Given the description of an element on the screen output the (x, y) to click on. 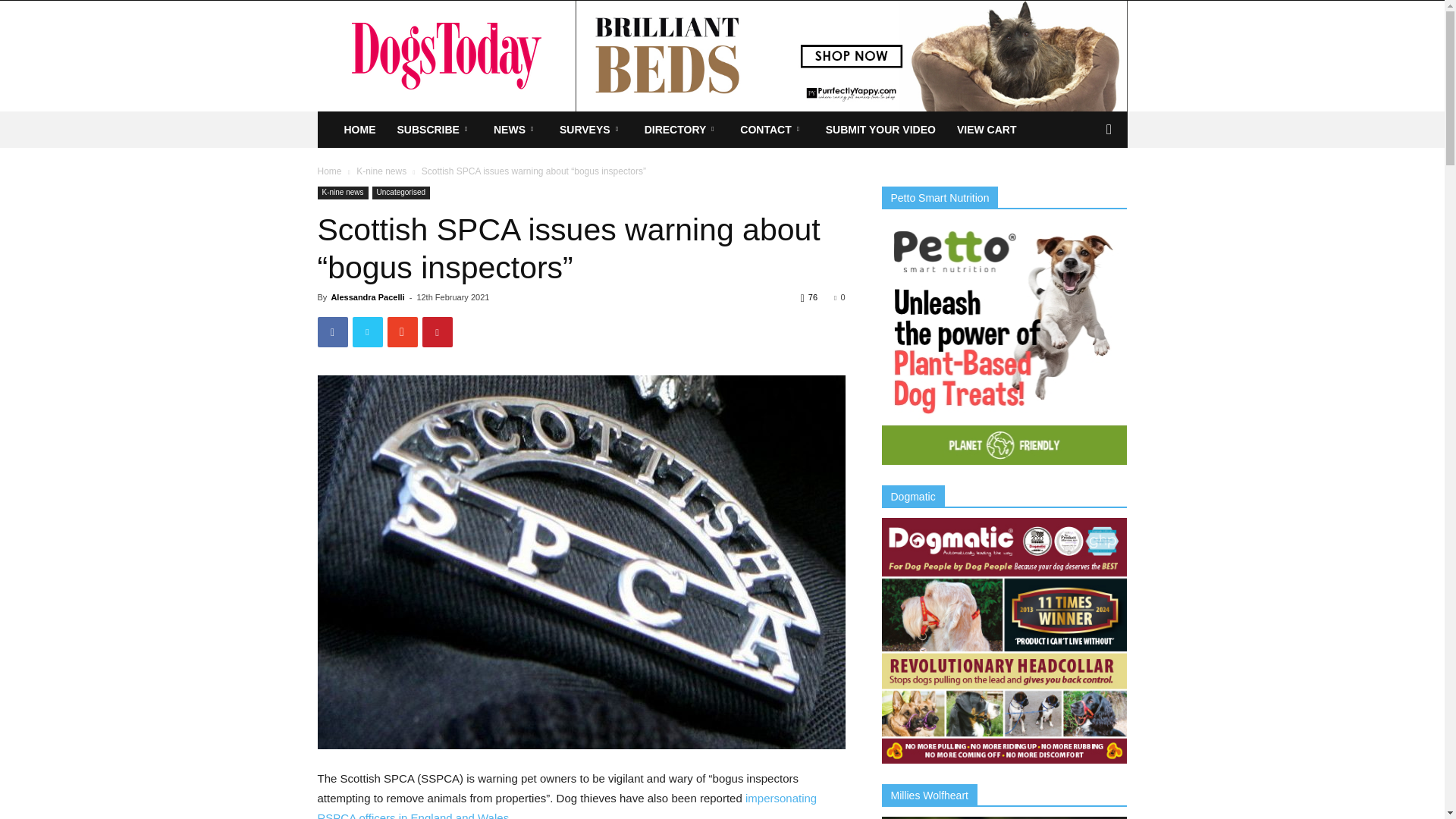
SURVEYS (590, 129)
SUBSCRIBE (435, 129)
HOME (360, 129)
NEWS (515, 129)
View all posts in K-nine news (381, 171)
DIRECTORY (681, 129)
